Given the description of an element on the screen output the (x, y) to click on. 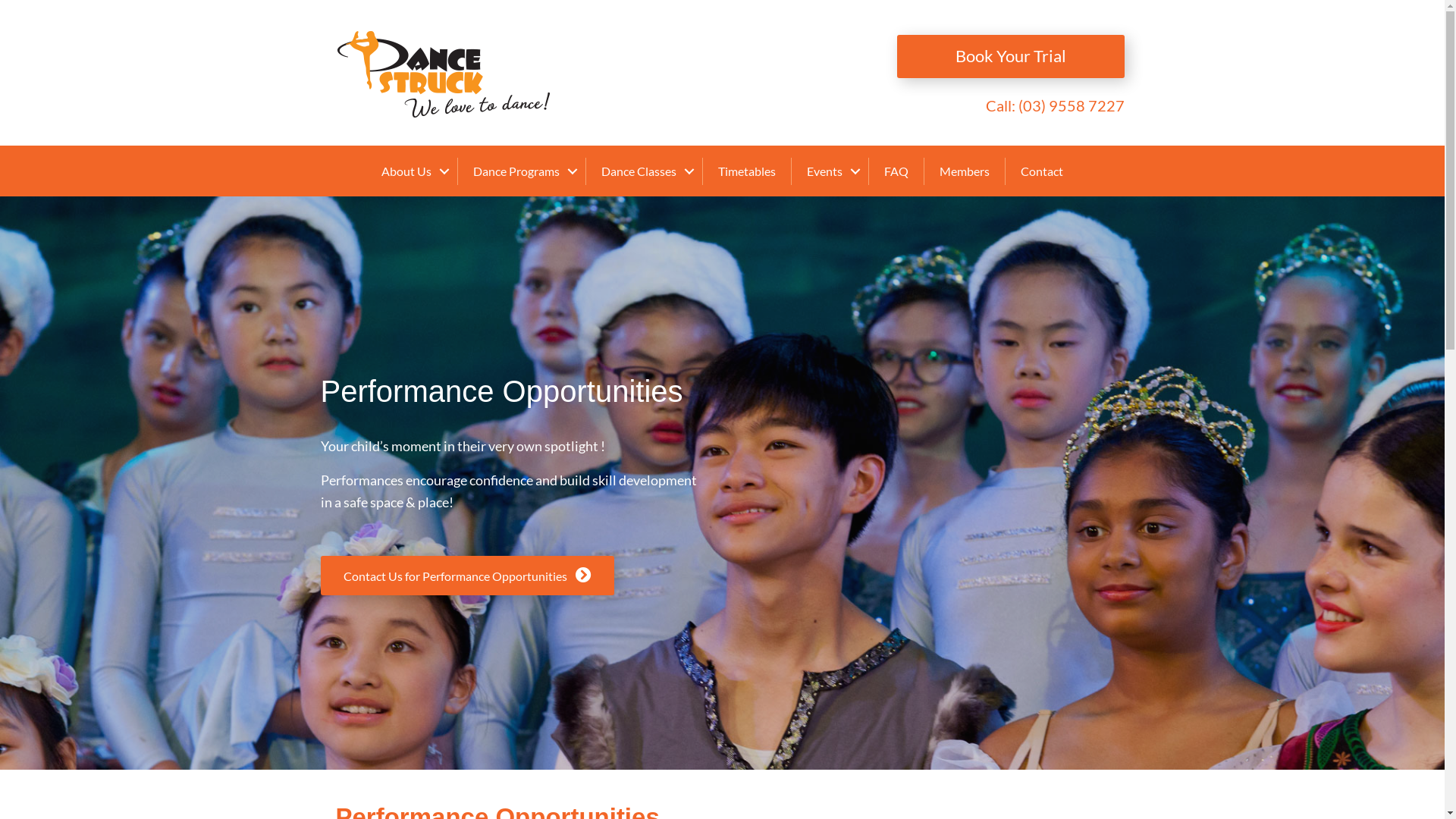
Timetables Element type: text (746, 171)
Members Element type: text (964, 171)
dancestruck logo Element type: hover (443, 74)
Book Your Trial Element type: text (1010, 55)
Dance Classes Element type: text (644, 171)
Call: (03) 9558 7227 Element type: text (1054, 105)
Contact Us for Performance Opportunities Element type: text (466, 575)
About Us Element type: text (411, 171)
Events Element type: text (829, 171)
FAQ Element type: text (896, 171)
Dance Programs Element type: text (521, 171)
Contact Element type: text (1041, 171)
